Given the description of an element on the screen output the (x, y) to click on. 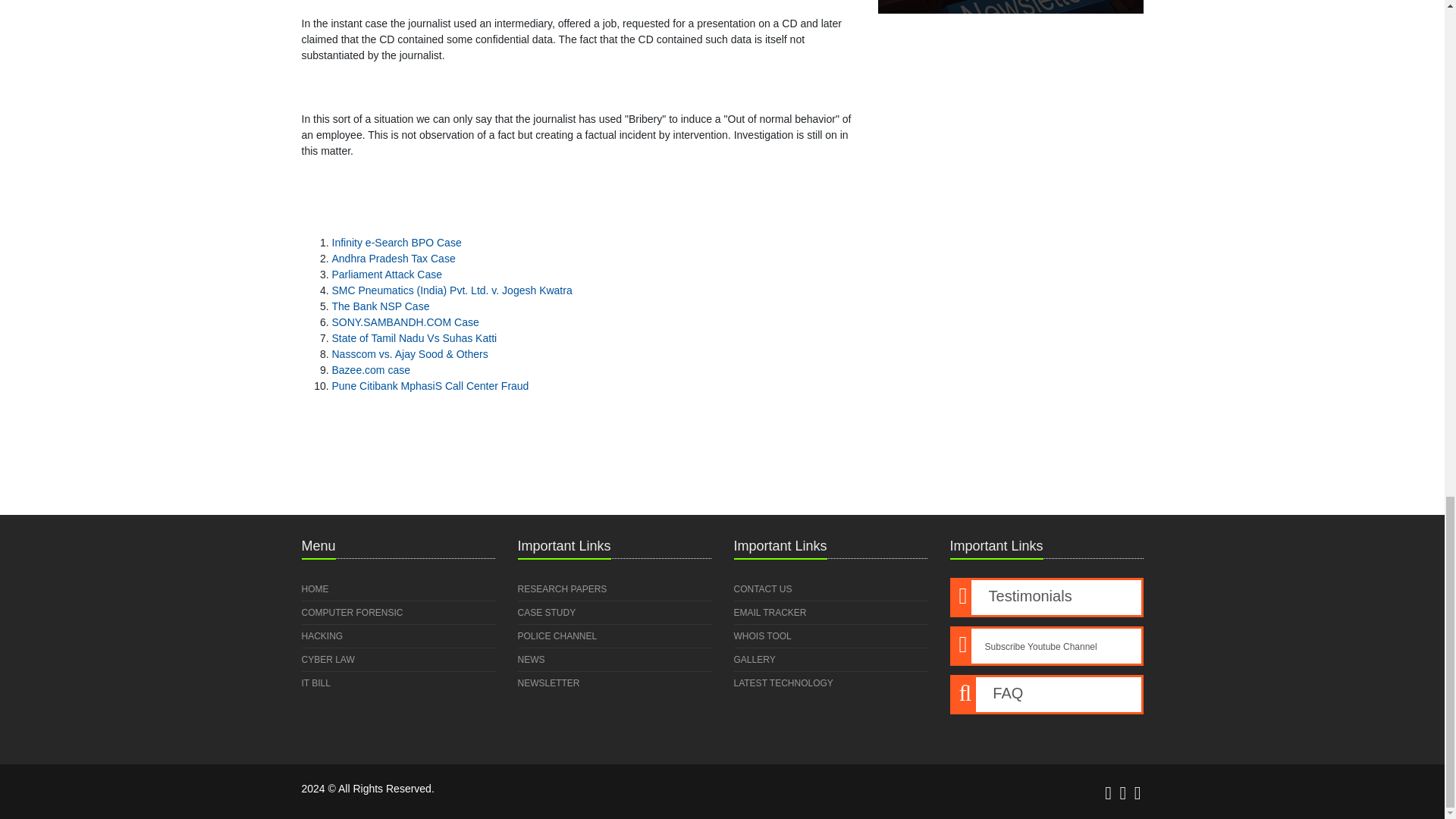
Andhra Pradesh Tax Case (393, 258)
The Bank NSP Case (380, 306)
Bazee.com case (370, 369)
Pune Citibank MphasiS Call Center Fraud (430, 386)
Parliament Attack Case (386, 274)
SONY.SAMBANDH.COM Case (405, 322)
Infinity e-Search BPO Case (396, 242)
State of Tamil Nadu Vs Suhas Katti (414, 337)
